Given the description of an element on the screen output the (x, y) to click on. 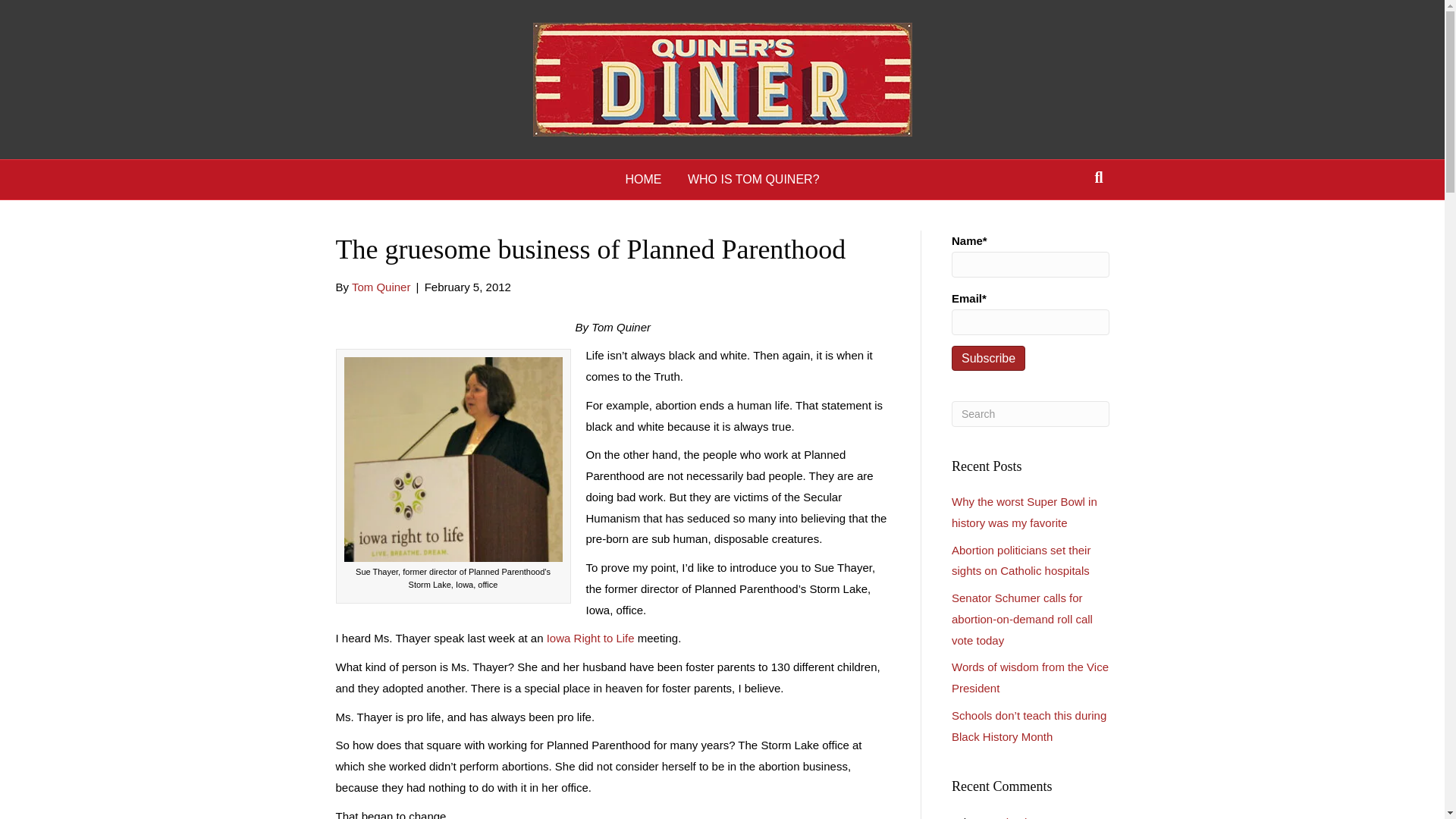
Why the worst Super Bowl in history was my favorite (1029, 817)
Why the worst Super Bowl in history was my favorite (1024, 512)
WHO IS TOM QUINER? (754, 179)
Words of wisdom from the Vice President (1030, 677)
Abortion politicians set their sights on Catholic hospitals (1021, 560)
Subscribe (988, 358)
Type and press Enter to search. (1030, 413)
HOME (642, 179)
Tom Quiner (381, 286)
